Given the description of an element on the screen output the (x, y) to click on. 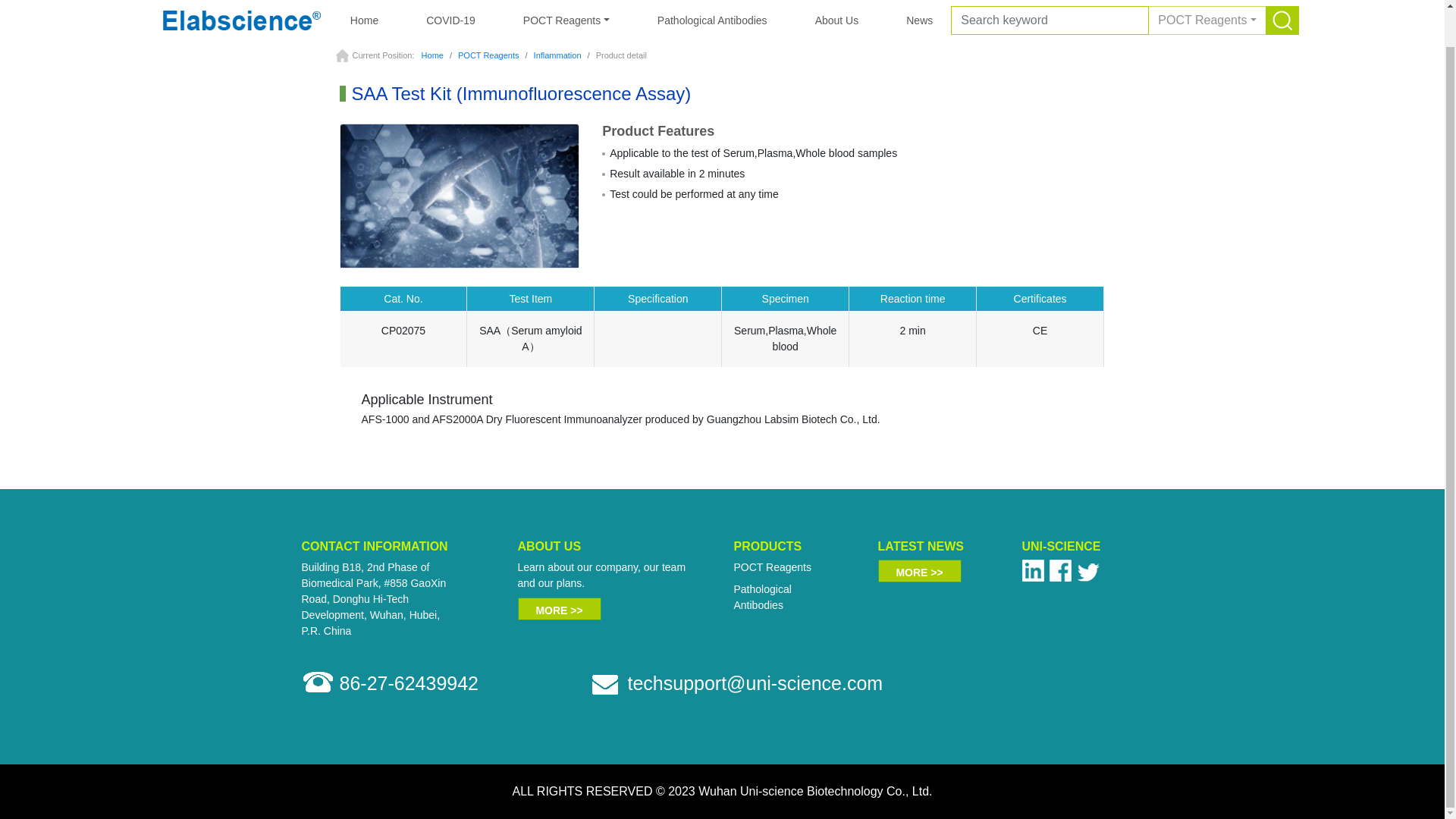
Home (433, 54)
Pathological Antibodies (762, 596)
POCT Reagents (488, 54)
Inflammation (557, 54)
86-27-62439942 (409, 682)
POCT Reagents (771, 567)
